Given the description of an element on the screen output the (x, y) to click on. 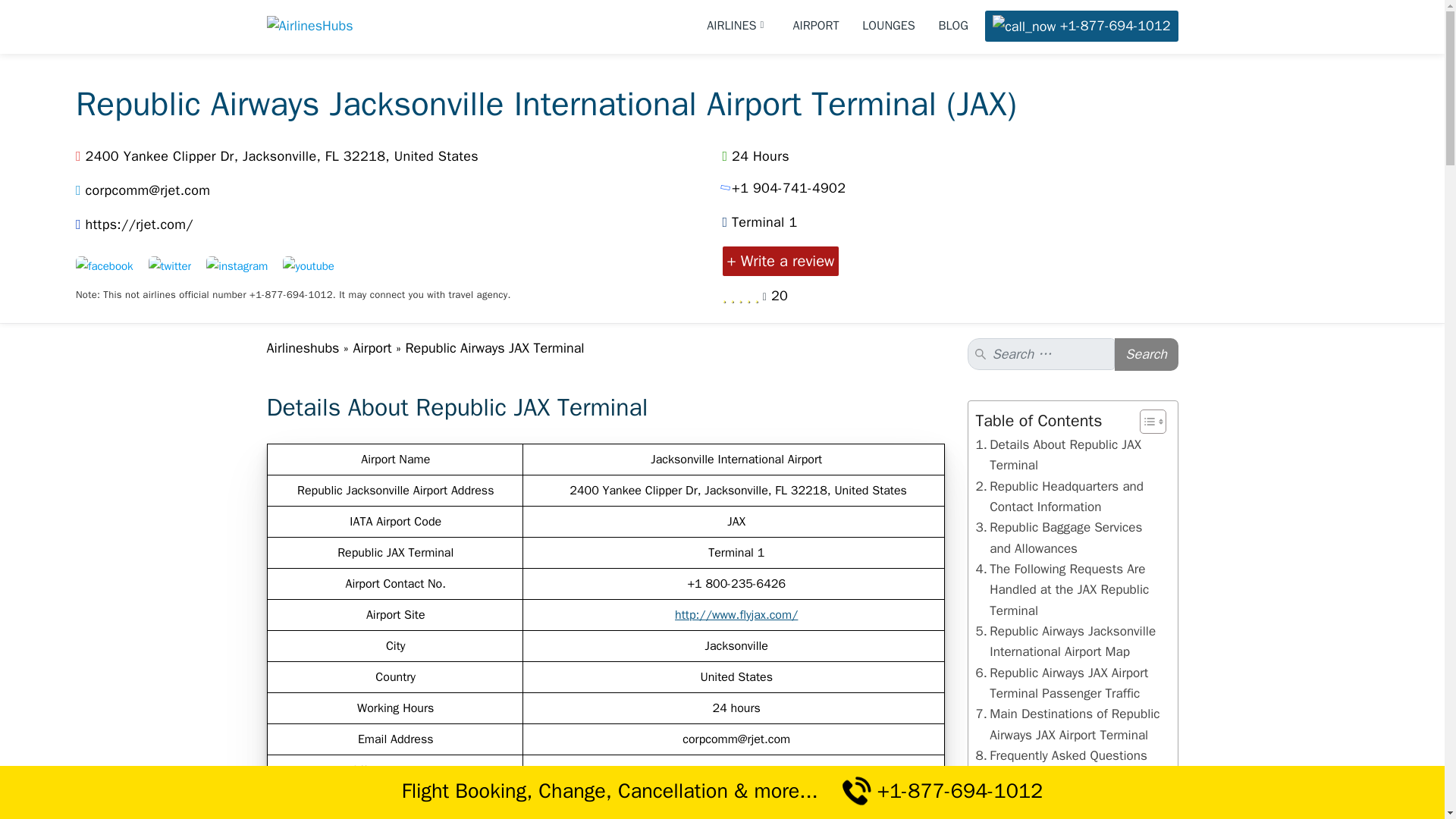
Search (1146, 354)
Search (1146, 354)
AIRPORT (816, 25)
AIRLINES (738, 25)
